Given the description of an element on the screen output the (x, y) to click on. 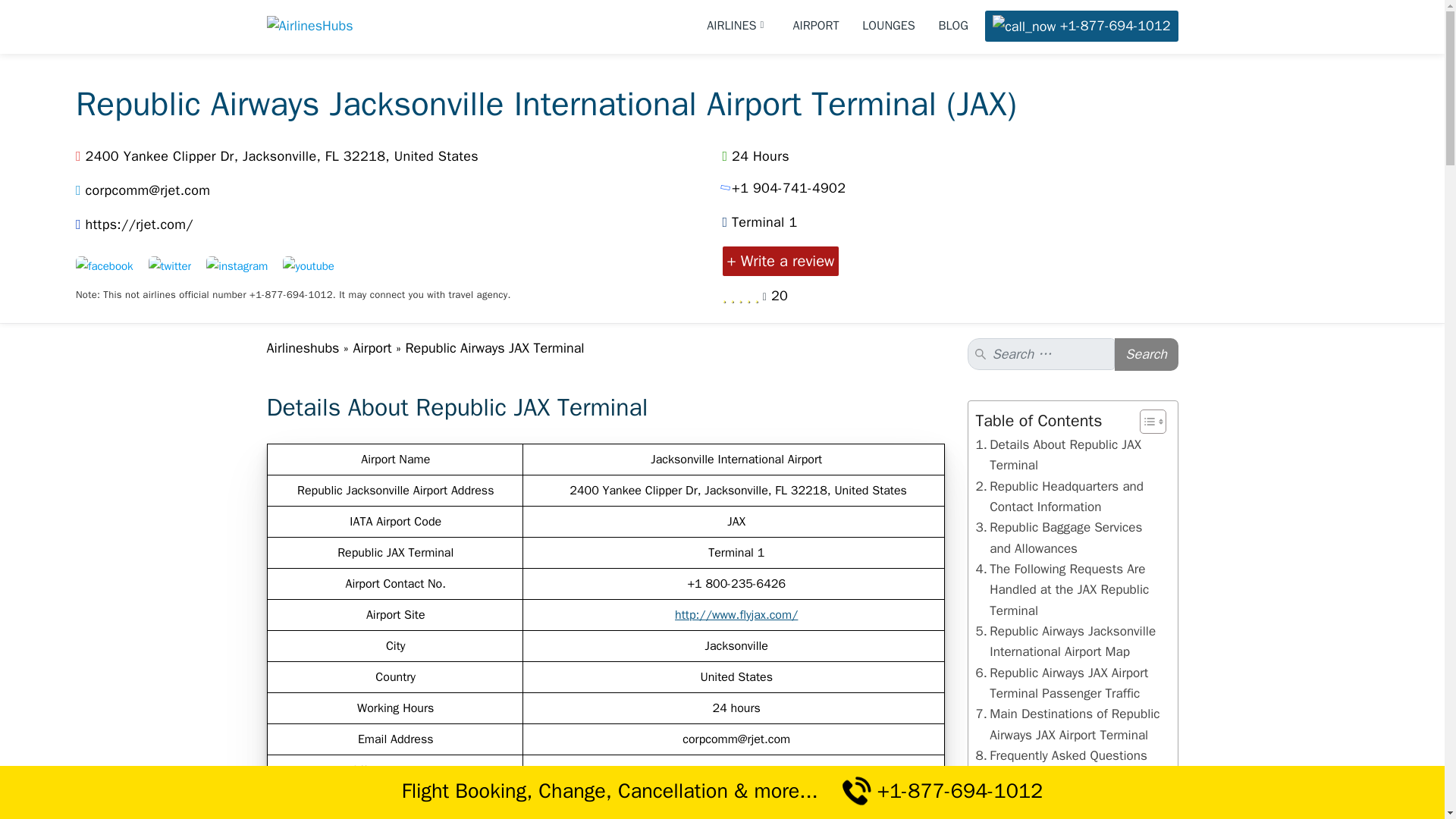
Search (1146, 354)
Search (1146, 354)
AIRPORT (816, 25)
AIRLINES (738, 25)
